Given the description of an element on the screen output the (x, y) to click on. 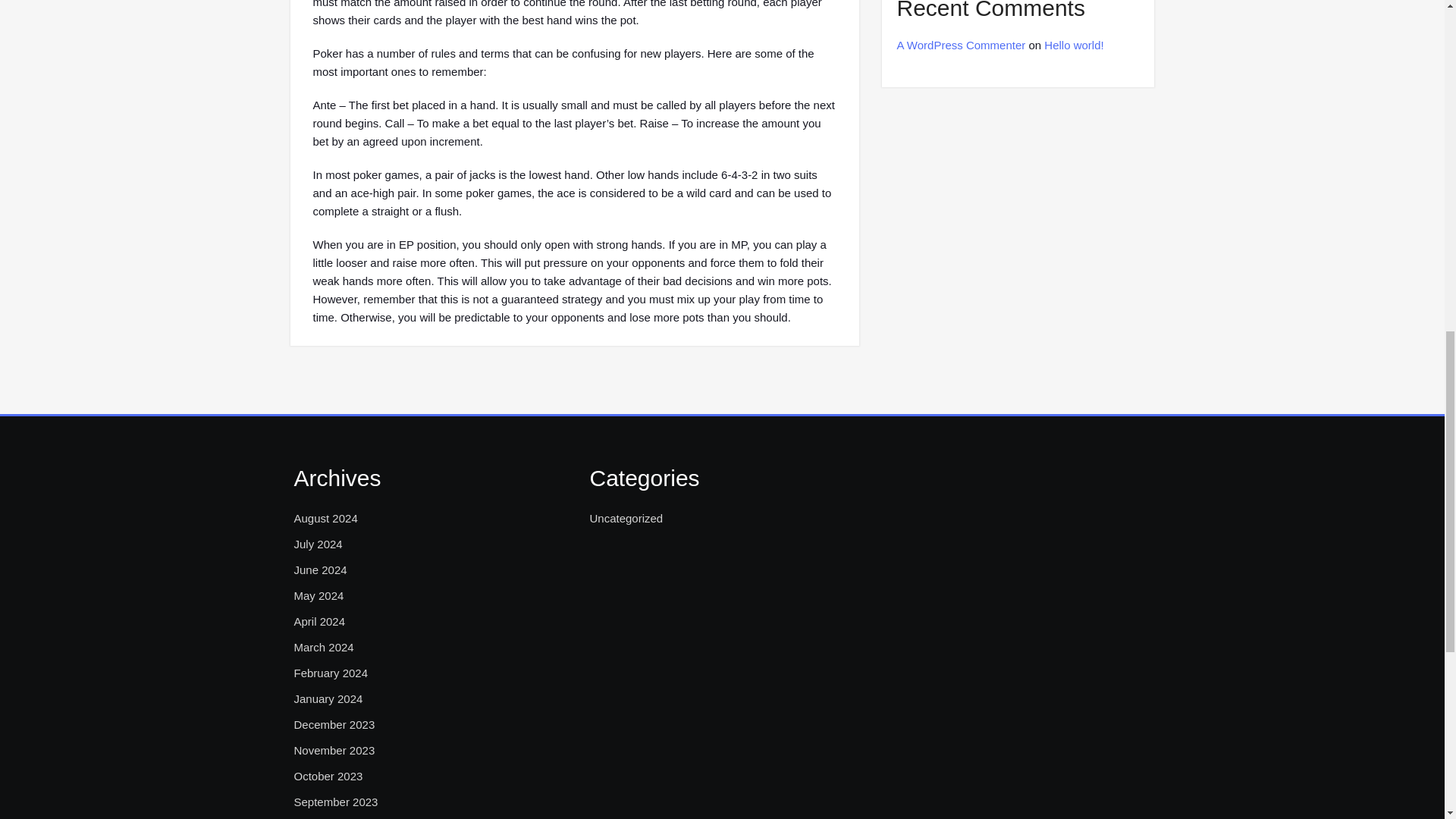
August 2024 (326, 518)
Hello world! (1073, 44)
June 2024 (320, 570)
March 2024 (323, 647)
July 2024 (318, 544)
May 2024 (318, 596)
September 2023 (336, 802)
December 2023 (334, 724)
November 2023 (334, 751)
February 2024 (331, 673)
